Given the description of an element on the screen output the (x, y) to click on. 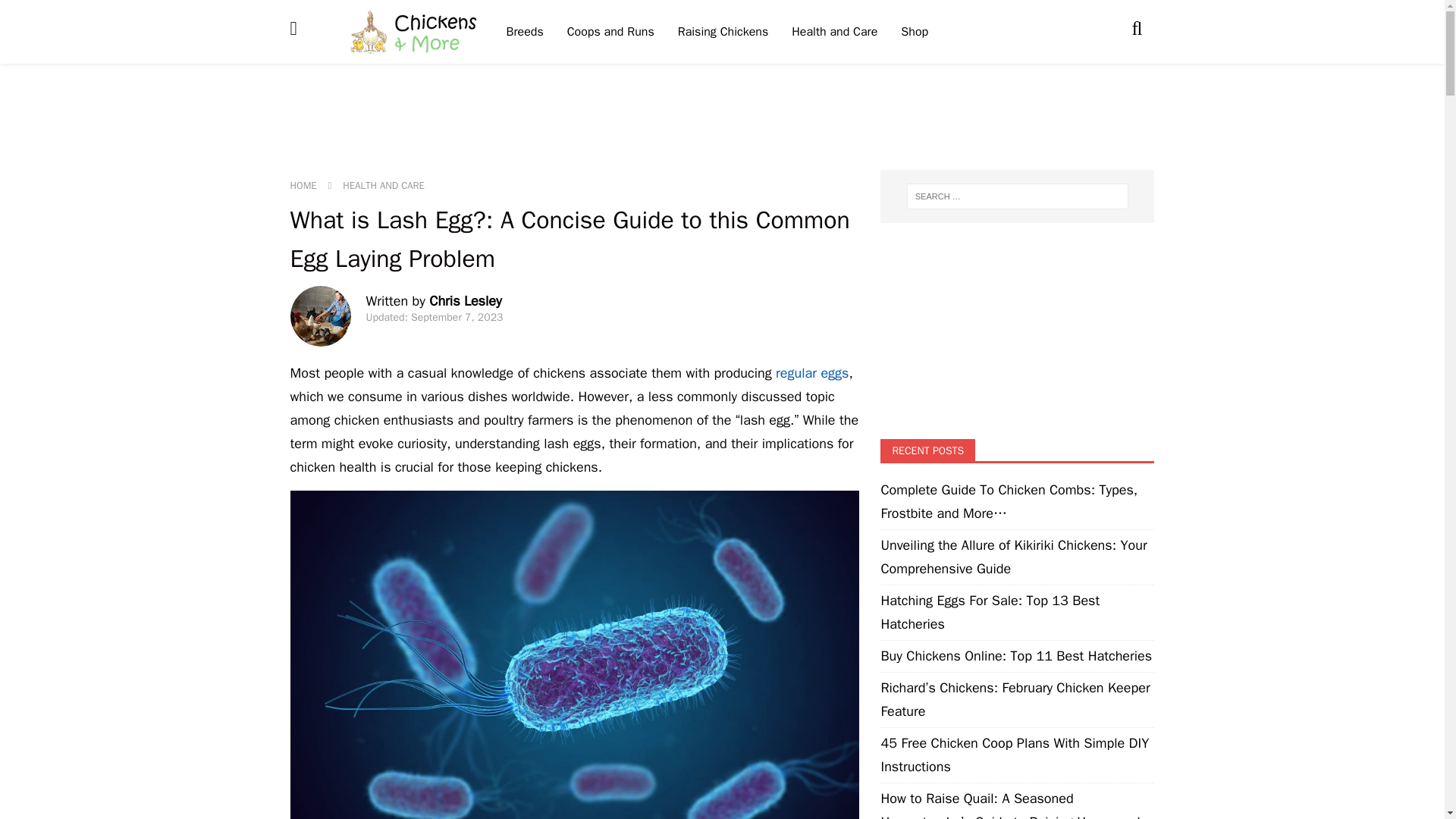
Breeds (524, 31)
HEALTH AND CARE (383, 185)
Shop (913, 31)
Health and Care (833, 31)
regular eggs (812, 372)
Chickens And More (414, 31)
HOME (302, 185)
Chris Lesley (464, 300)
Coops and Runs (609, 31)
Raising Chickens (722, 31)
